Given the description of an element on the screen output the (x, y) to click on. 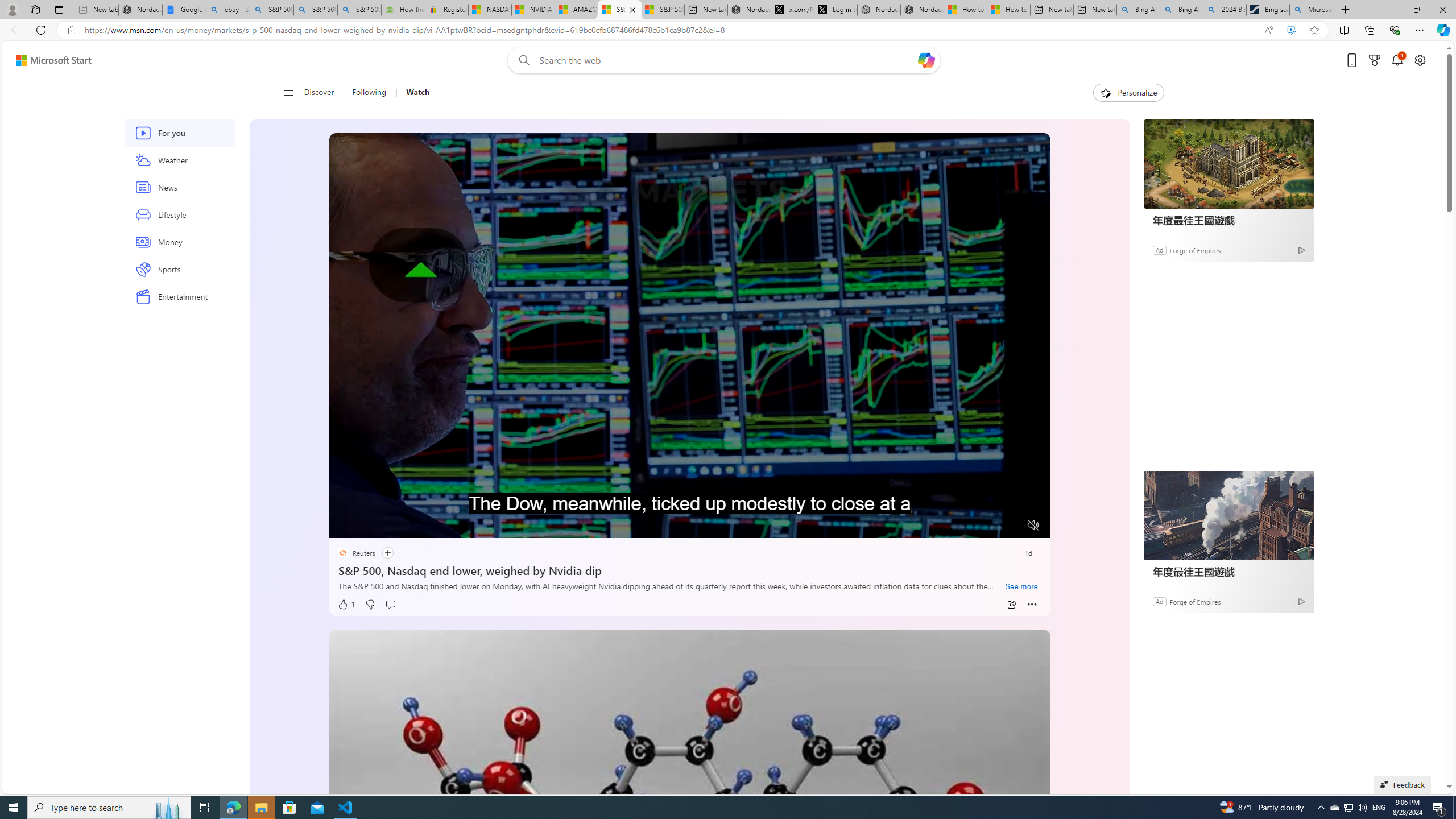
Log in to X / X (835, 9)
Share (1010, 604)
Pause (346, 525)
Skip to content (49, 59)
Open Copilot (926, 59)
How to Use a Monitor With Your Closed Laptop (1008, 9)
Discover (323, 92)
Quality Settings (964, 525)
Progress Bar (689, 510)
Discover (319, 92)
S&P 500, Nasdaq end lower, weighed by Nvidia dip | Watch (662, 9)
Open navigation menu (287, 92)
Share (1010, 604)
